Given the description of an element on the screen output the (x, y) to click on. 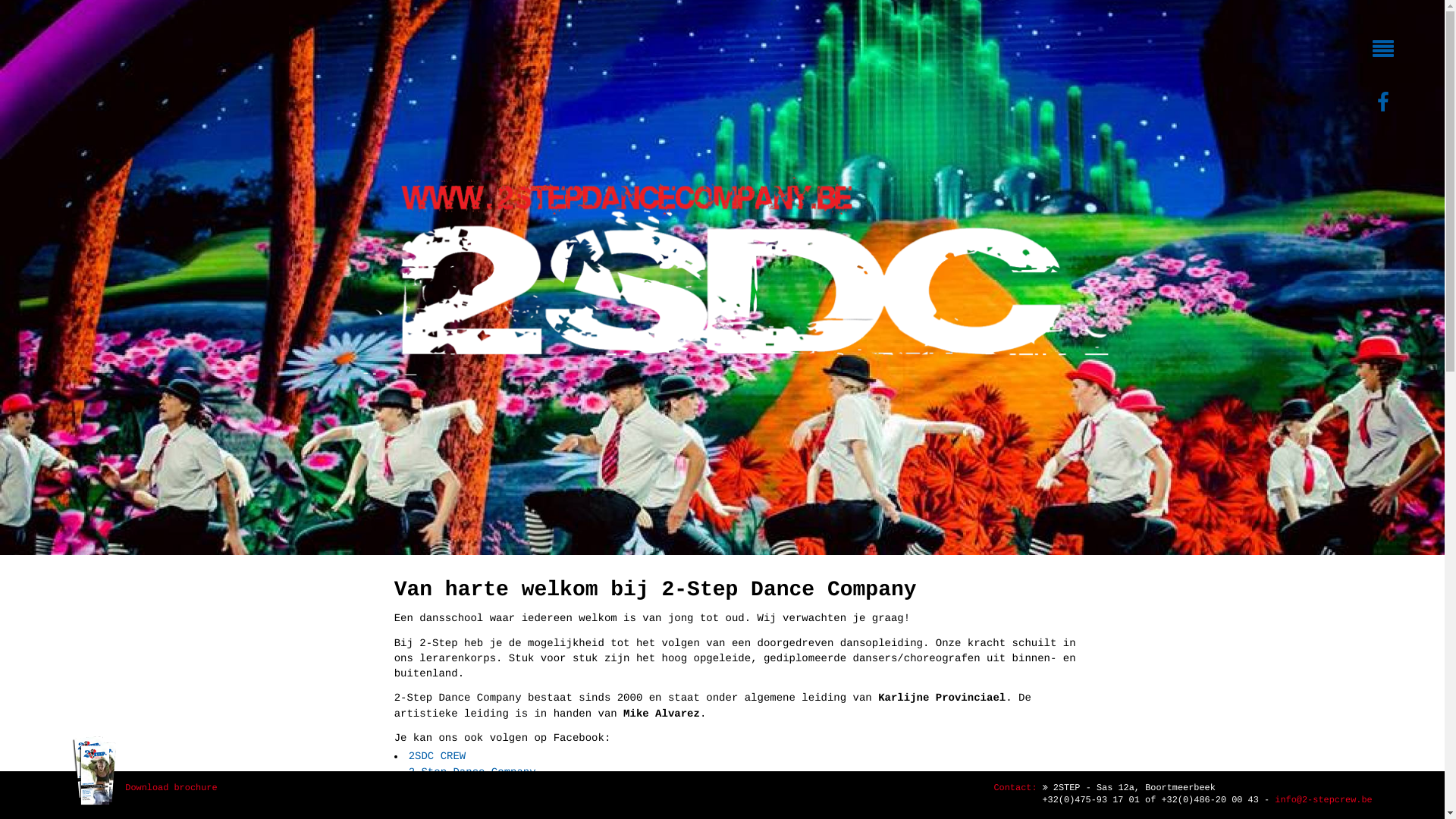
info@2-stepcrew.be Element type: text (1322, 799)
Instagram Element type: text (441, 796)
2SDC CREW Element type: text (437, 756)
2-Step Dance Company Element type: text (472, 772)
Download brochure Element type: text (144, 793)
